Given the description of an element on the screen output the (x, y) to click on. 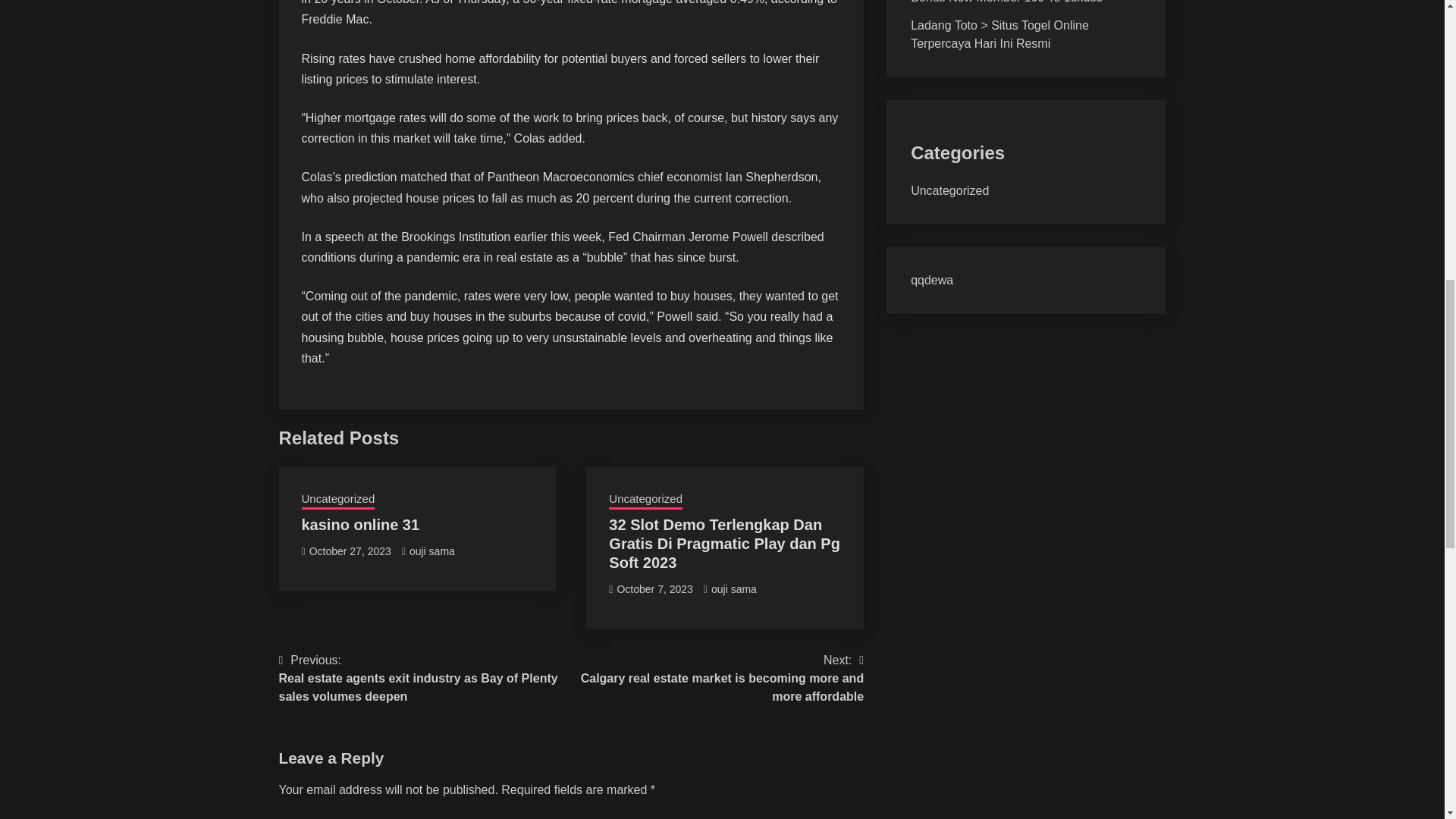
October 7, 2023 (654, 589)
Uncategorized (949, 190)
qqdewa (932, 279)
ouji sama (431, 551)
ouji sama (734, 589)
October 27, 2023 (349, 551)
Uncategorized (645, 500)
kasino online 31 (360, 524)
Uncategorized (338, 500)
